Given the description of an element on the screen output the (x, y) to click on. 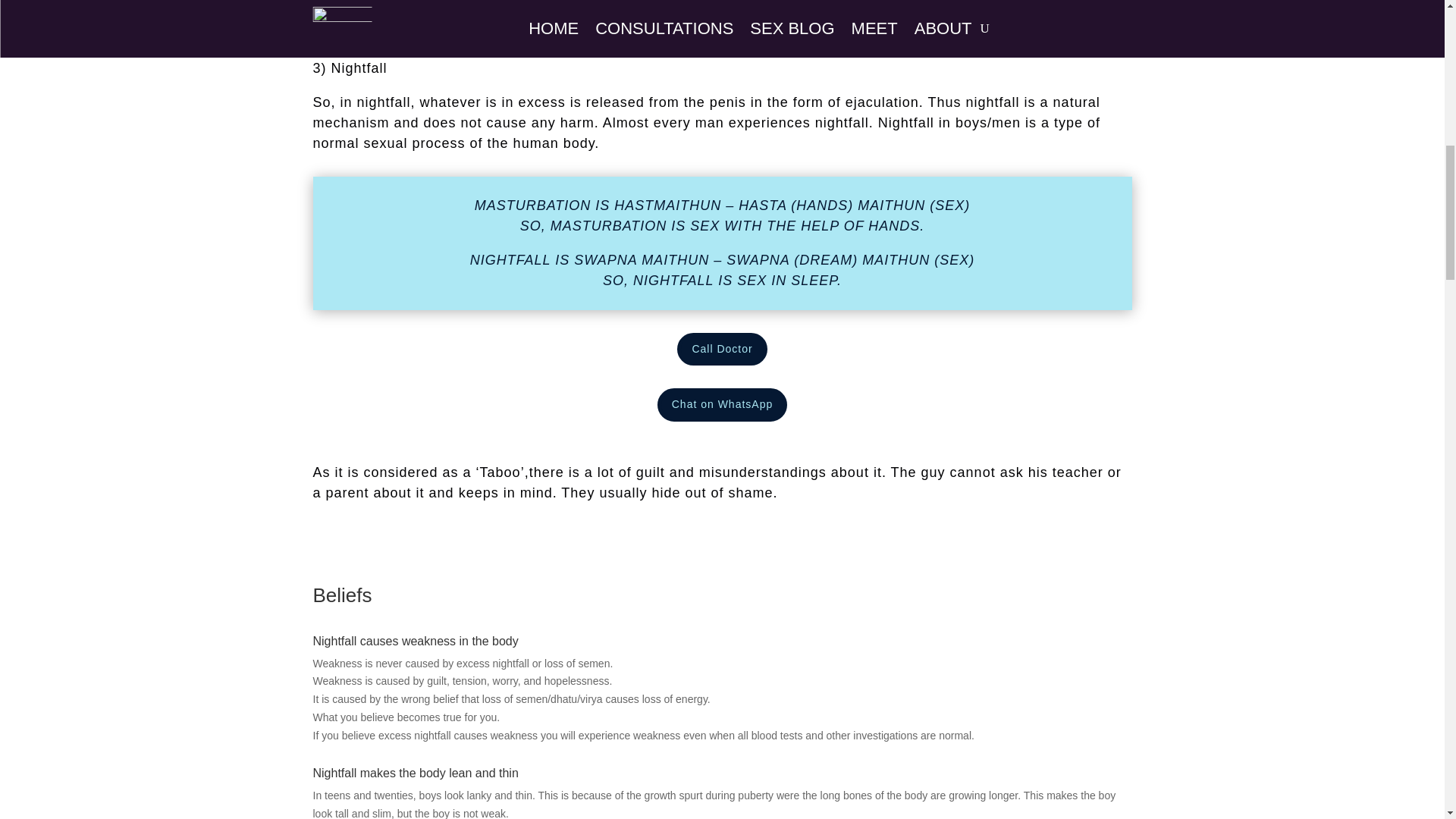
Chat on WhatsApp (722, 404)
Call Doctor (722, 349)
